Given the description of an element on the screen output the (x, y) to click on. 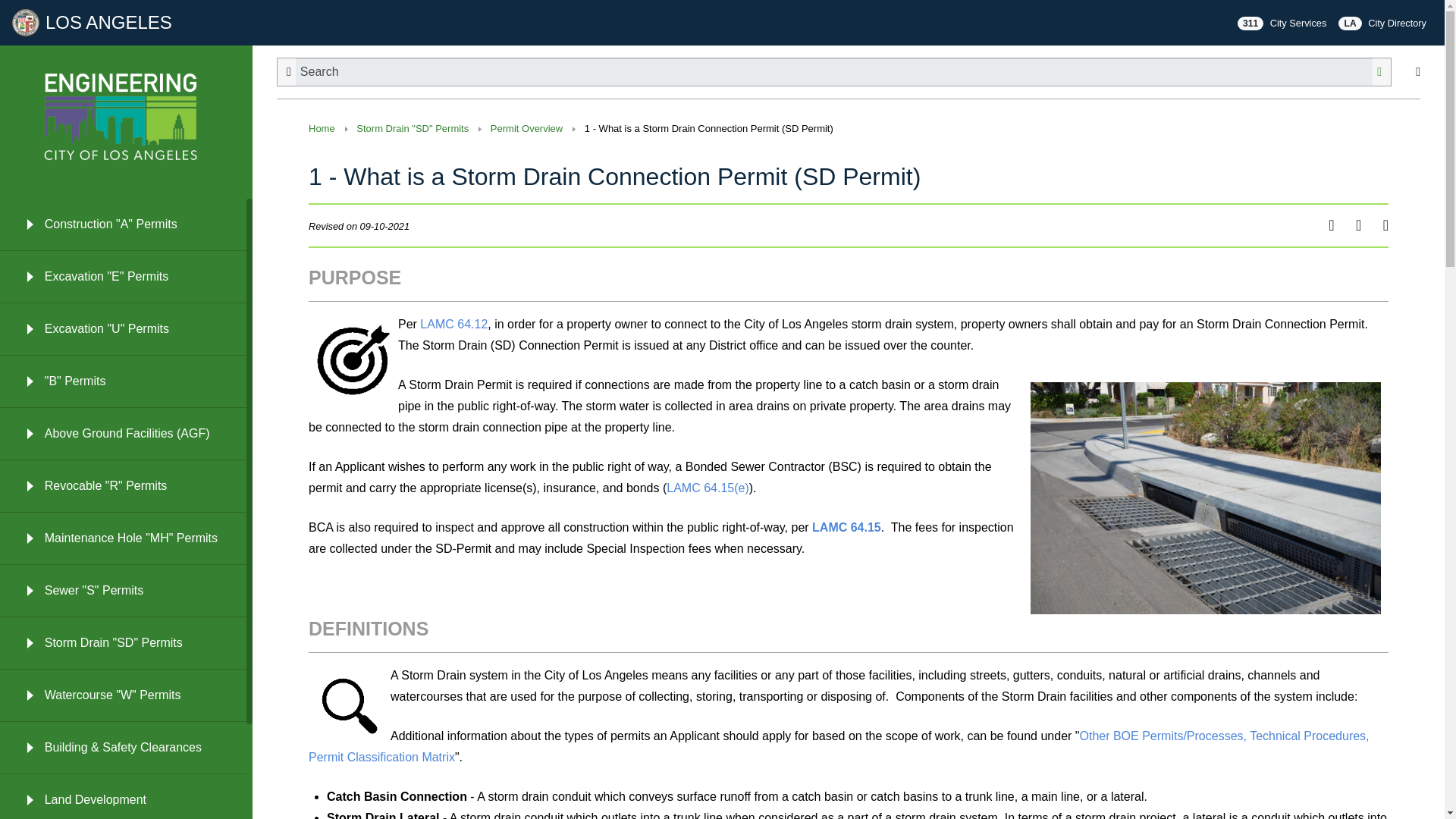
Sample Catch Basin Photo (1206, 497)
LAMC 64.15 (846, 526)
LAMC 64.12 (453, 323)
Home (321, 128)
Magnifying Glass Icon to Depict Definitions (349, 705)
311 City Services (1282, 22)
Permit Overview (526, 128)
Storm Drain "SD" Permits (412, 128)
LAMC 64.12 (453, 323)
LAMC 64.15.e (707, 487)
LOS ANGELES (97, 22)
Bullseye Icon to Depict Purpose (352, 358)
LA City Directory (1382, 22)
LAMC 64.15 (846, 526)
